Given the description of an element on the screen output the (x, y) to click on. 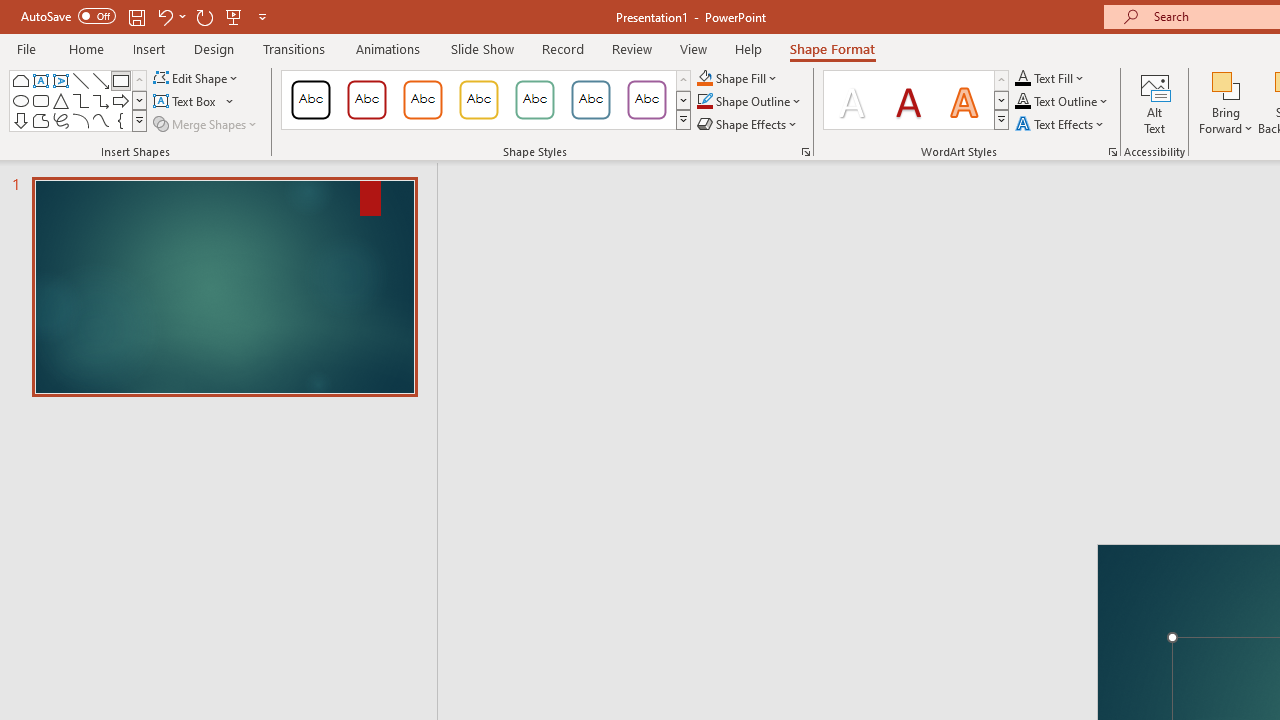
Colored Outline - Orange, Accent 2 (422, 100)
Rectangle: Top Corners Snipped (20, 80)
